Given the description of an element on the screen output the (x, y) to click on. 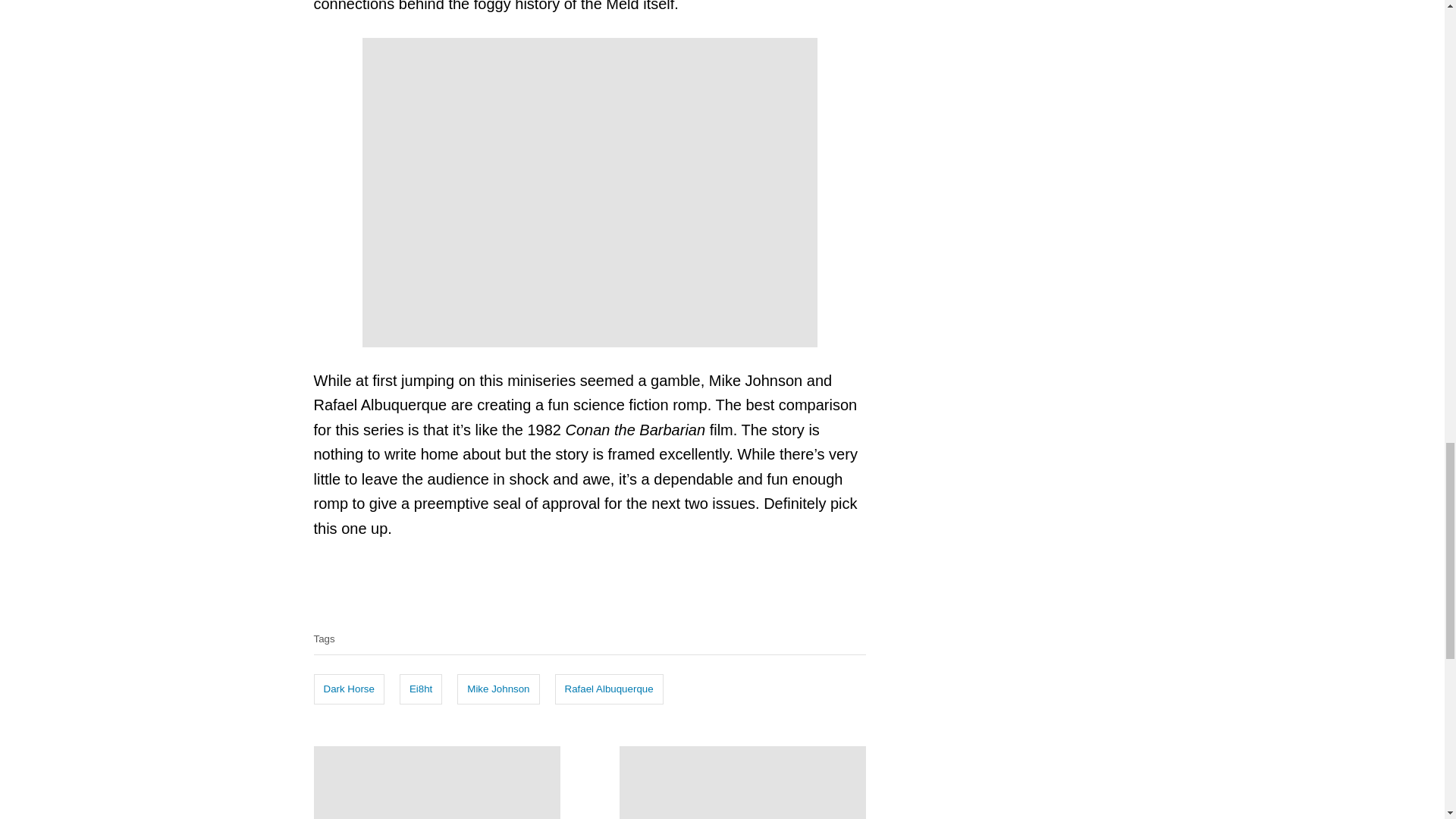
Ei8ht (420, 689)
Rafael Albuquerque (608, 689)
Dark Horse (349, 689)
Mike Johnson (497, 689)
